Given the description of an element on the screen output the (x, y) to click on. 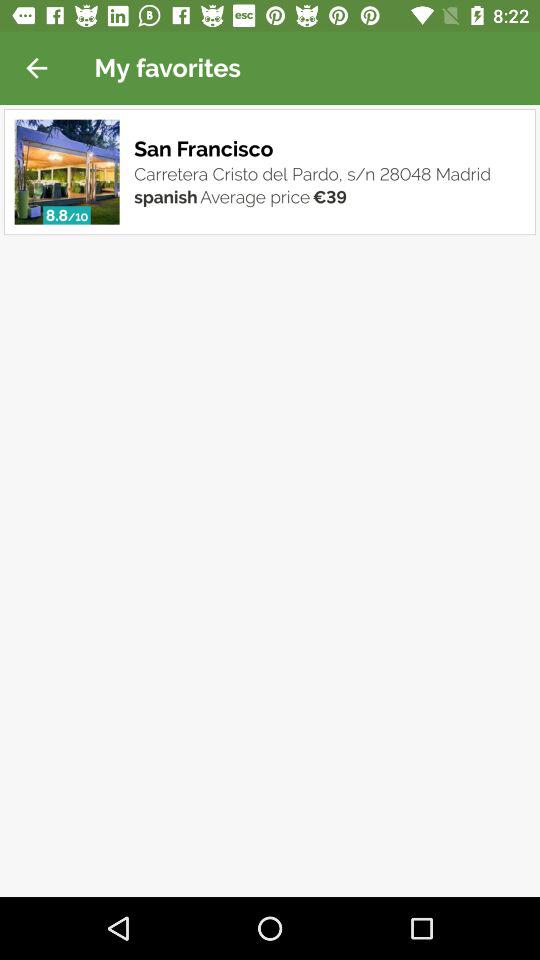
jump until the average price icon (255, 196)
